Given the description of an element on the screen output the (x, y) to click on. 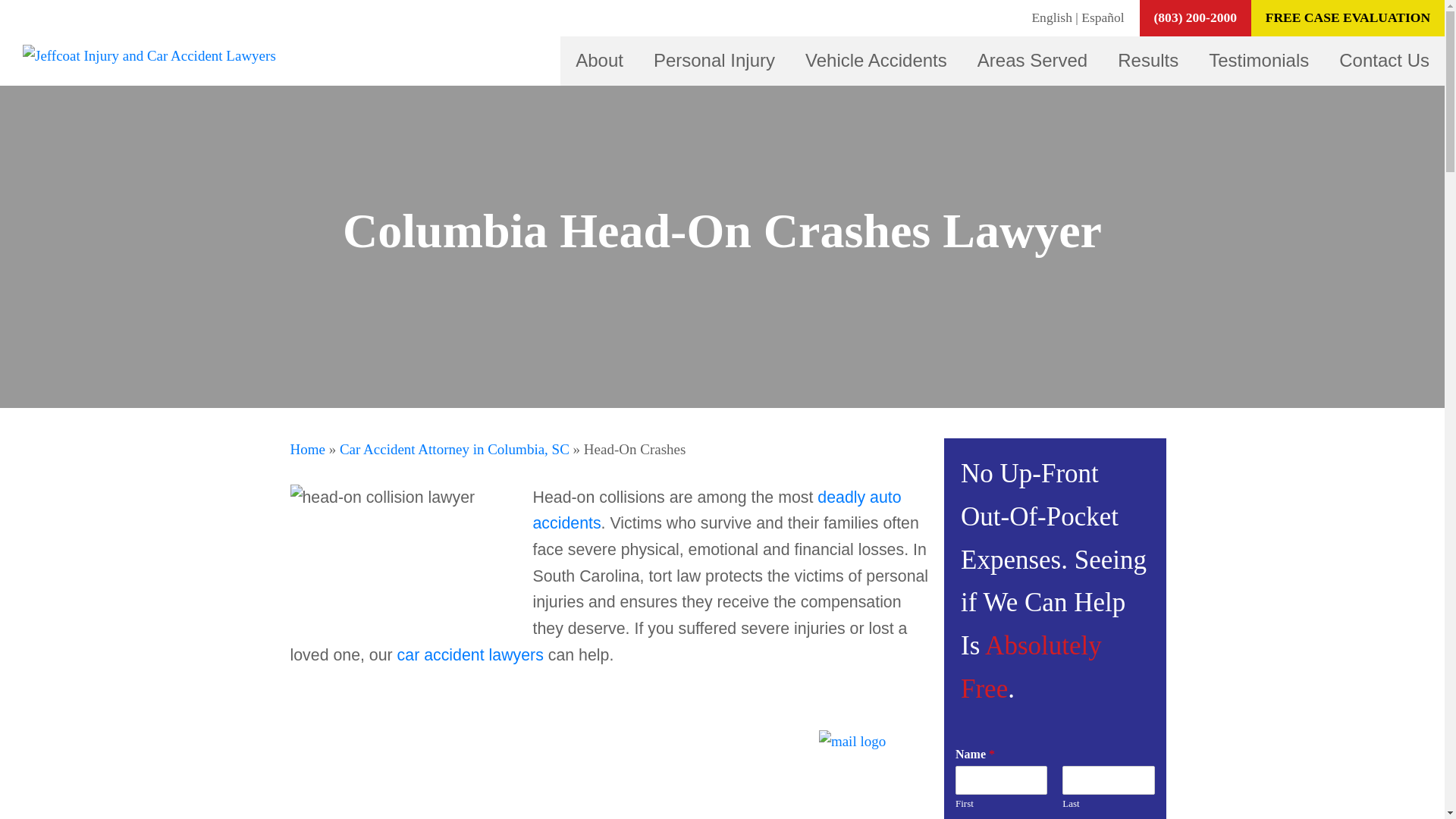
English (1050, 17)
Personal Injury (714, 60)
Vehicle Accidents (875, 60)
send (851, 741)
Contact Us (1384, 60)
About (599, 60)
Areas Served (1032, 60)
Testimonials (1258, 60)
Results (1147, 60)
